Given the description of an element on the screen output the (x, y) to click on. 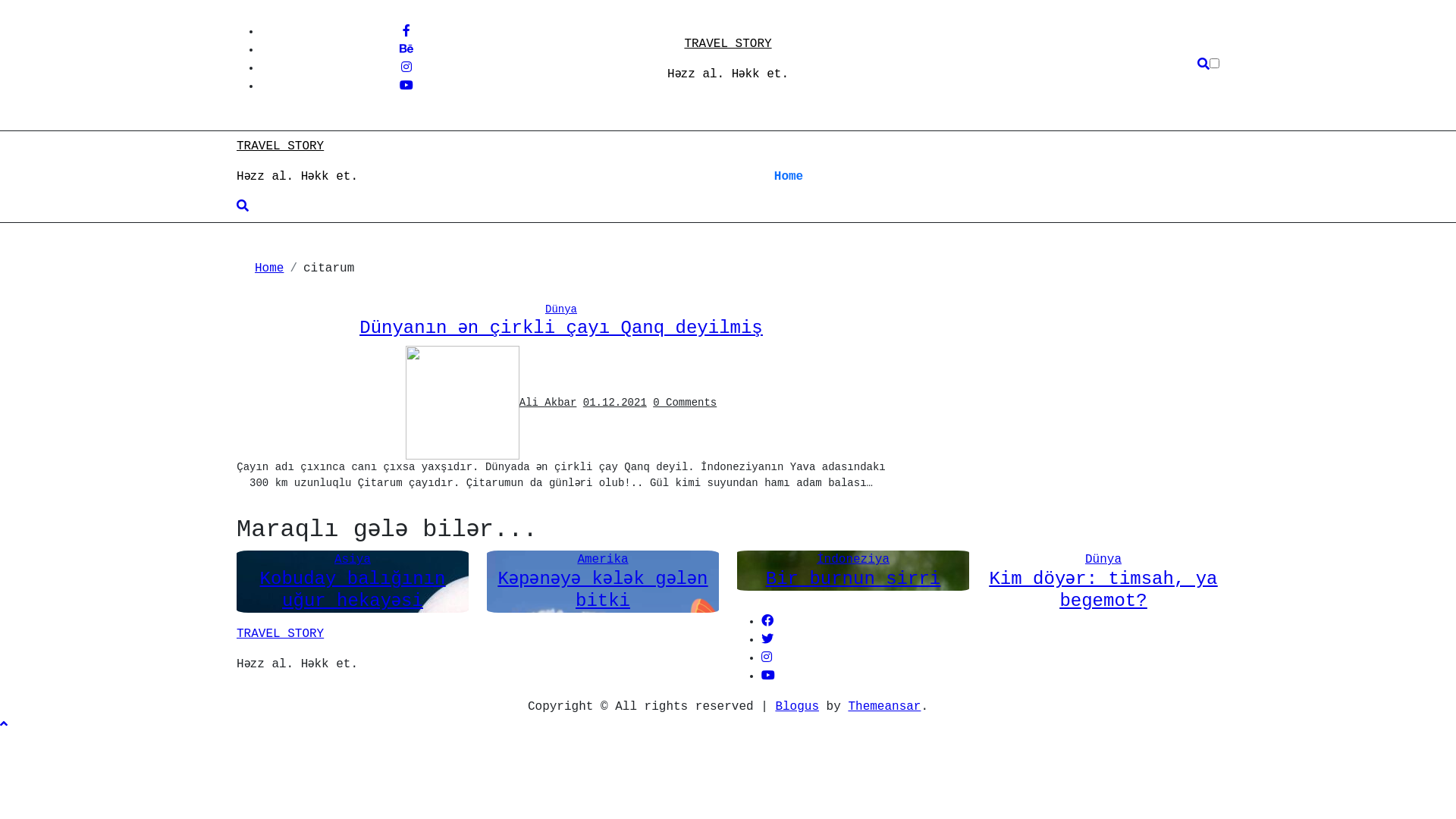
Asiya Element type: text (352, 559)
TRAVEL STORY Element type: text (727, 43)
Home Element type: text (268, 268)
Bir burnun sirri Element type: text (852, 578)
TRAVEL STORY Element type: text (279, 146)
Amerika Element type: text (602, 559)
01.12.2021 Element type: text (614, 401)
Home Element type: text (788, 176)
Themeansar Element type: text (883, 706)
Blogus Element type: text (797, 706)
Ali Akbar Element type: text (491, 401)
0 Comments Element type: text (684, 401)
TRAVEL STORY Element type: text (279, 633)
